Given the description of an element on the screen output the (x, y) to click on. 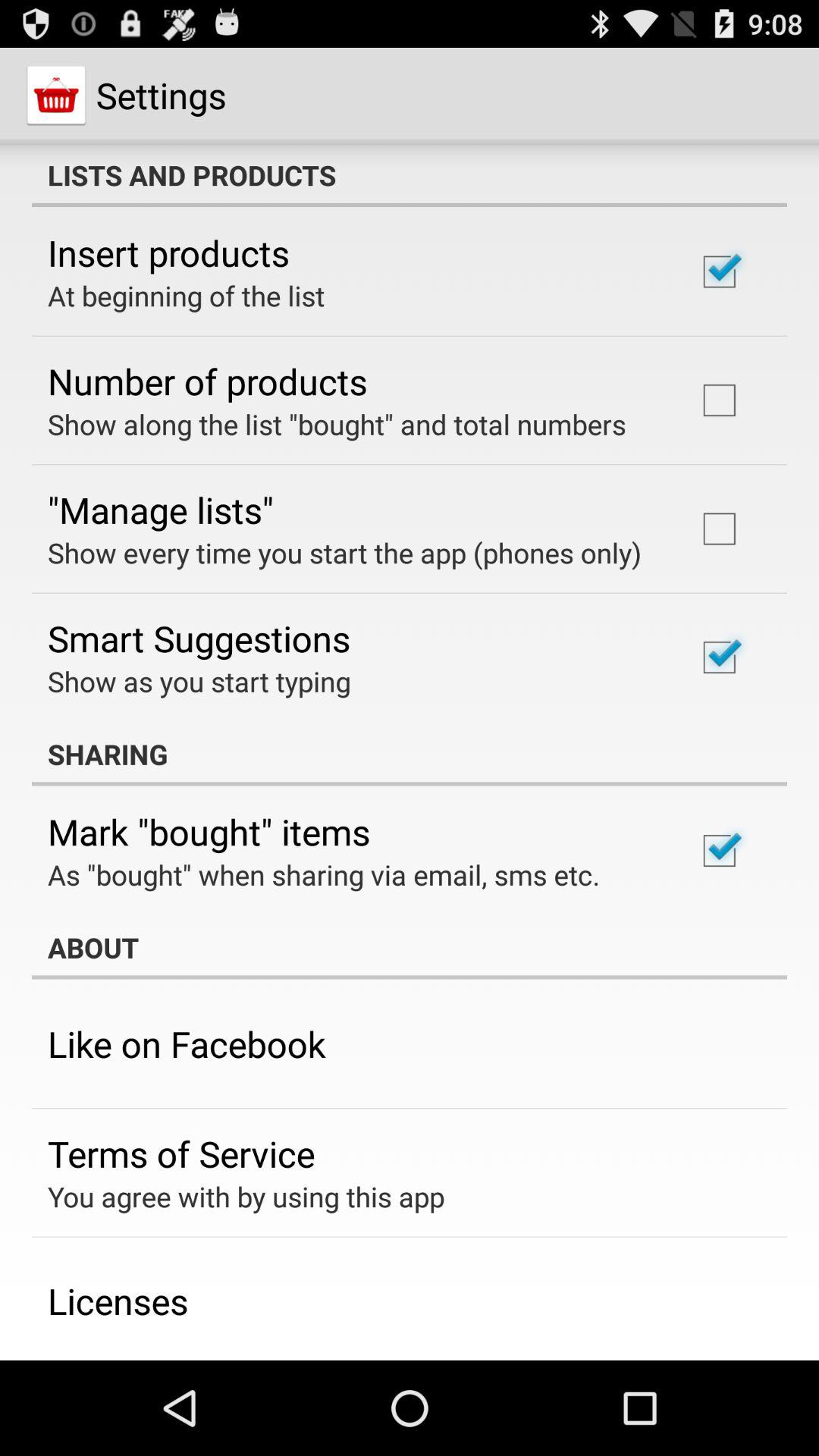
open the "manage lists" (160, 509)
